Given the description of an element on the screen output the (x, y) to click on. 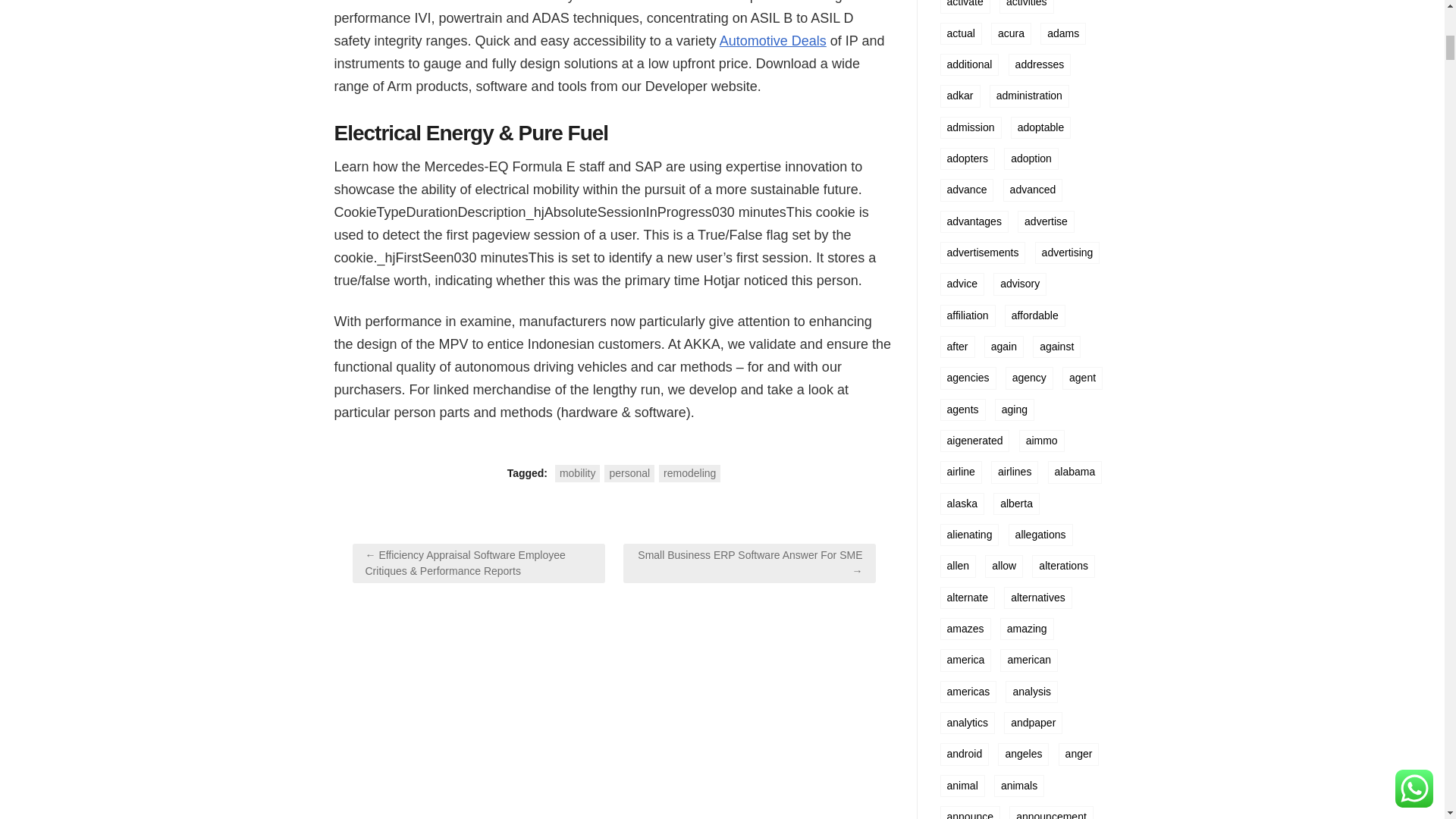
Automotive Deals (773, 40)
mobility (576, 473)
activate (965, 6)
personal (628, 473)
remodeling (689, 473)
